Given the description of an element on the screen output the (x, y) to click on. 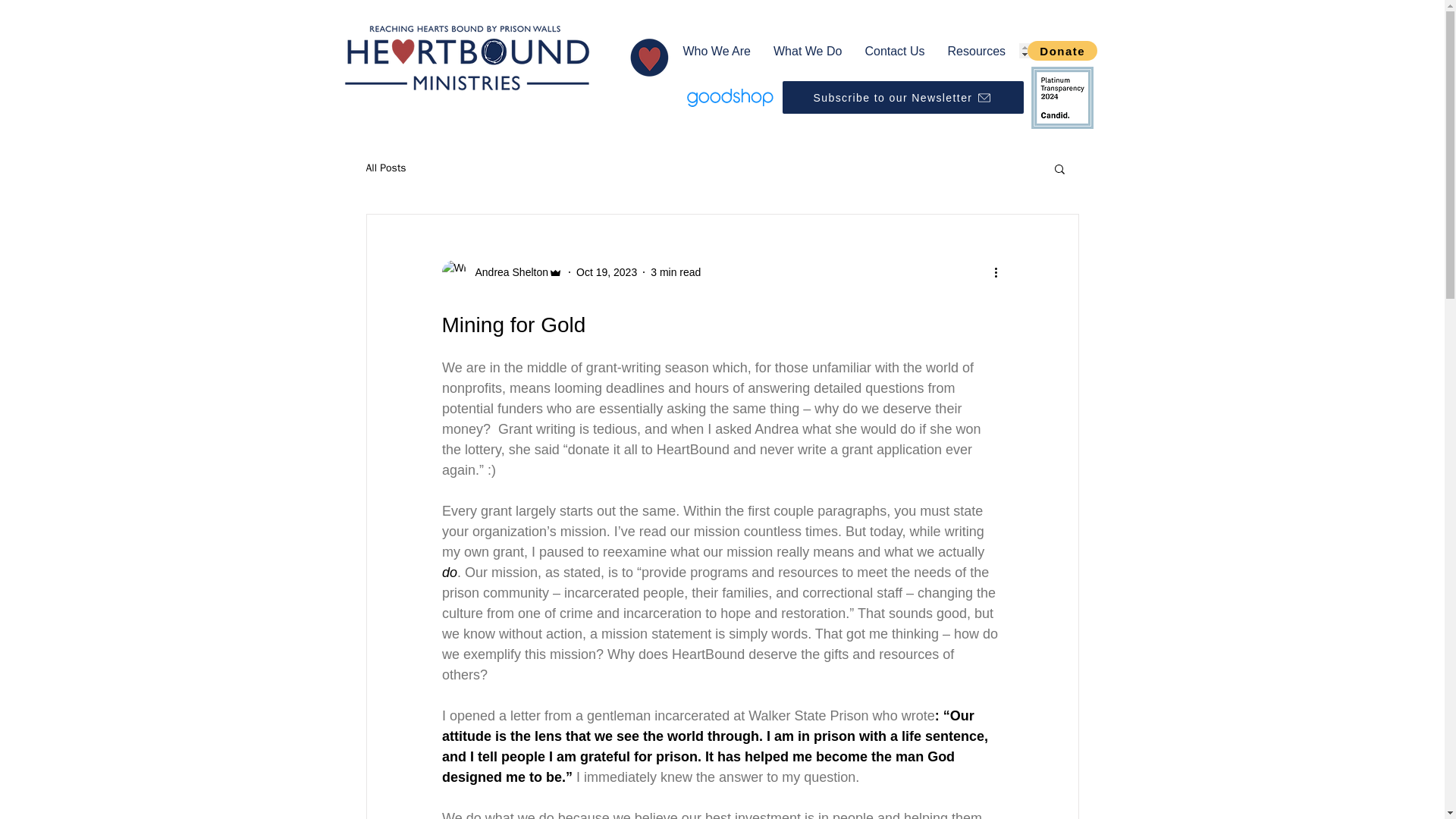
3 min read (675, 271)
Oct 19, 2023 (606, 271)
What We Do (807, 50)
Who We Are (716, 50)
All Posts (385, 168)
logo for website.png (466, 57)
Andrea Shelton (501, 272)
Subscribe to our Newsletter (903, 97)
Resources (976, 50)
Andrea Shelton (506, 271)
